Given the description of an element on the screen output the (x, y) to click on. 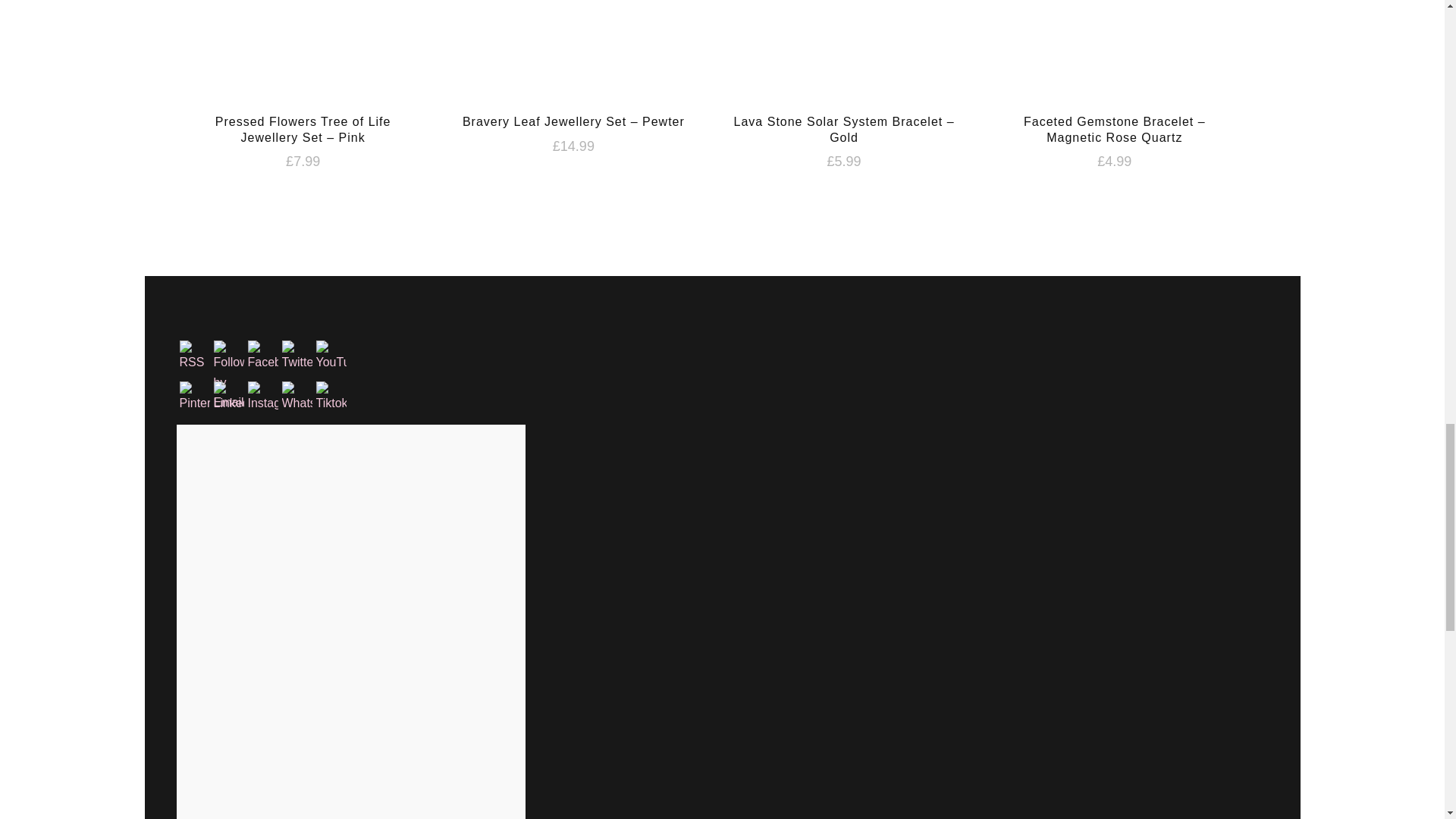
RSS (194, 356)
Facebook (262, 356)
Twitter (297, 356)
